Given the description of an element on the screen output the (x, y) to click on. 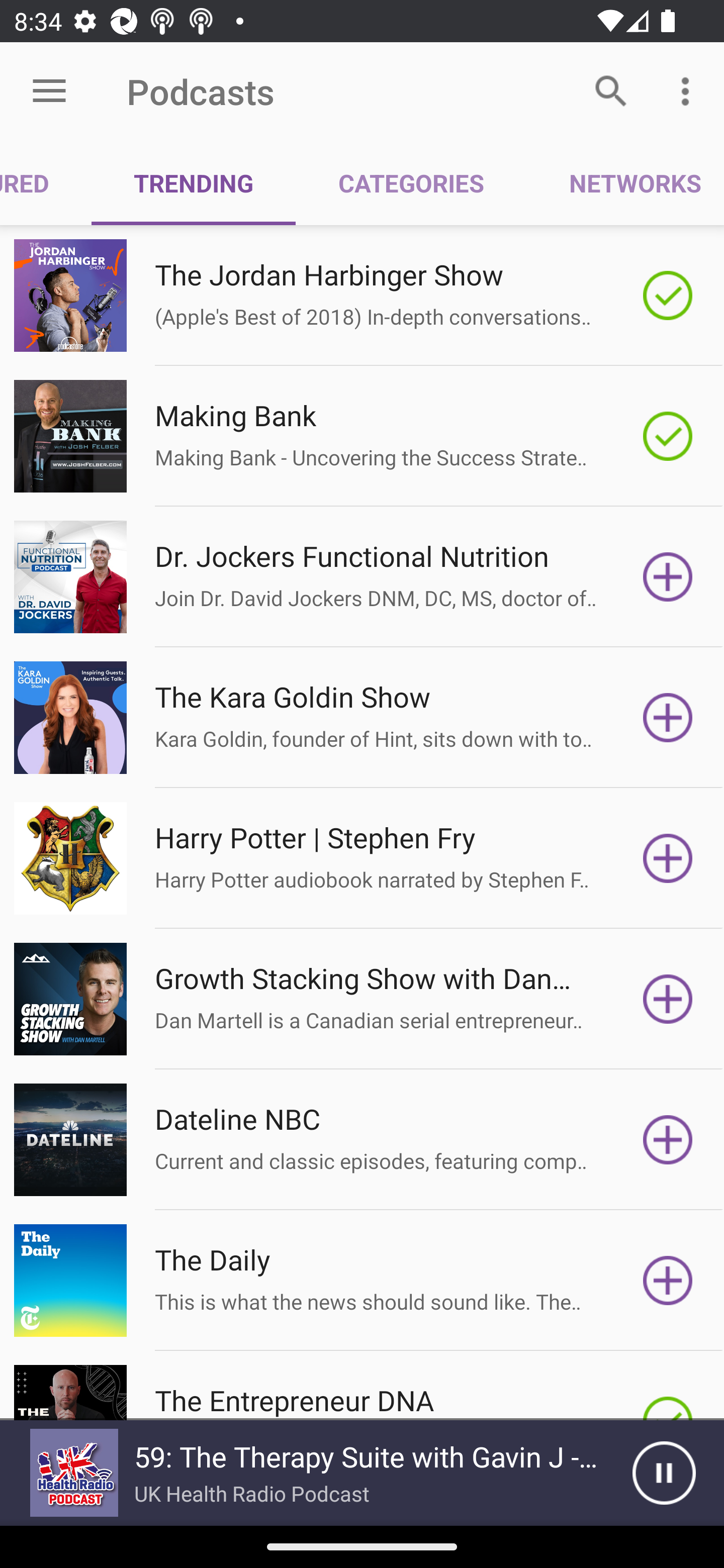
Open menu (49, 91)
Search (611, 90)
More options (688, 90)
TRENDING (193, 183)
CATEGORIES (410, 183)
NETWORKS (625, 183)
Subscribed (667, 295)
Subscribed (667, 435)
Subscribe (667, 576)
Subscribe (667, 717)
Subscribe (667, 858)
Subscribe (667, 998)
Subscribe (667, 1139)
Subscribe (667, 1280)
Pause (663, 1472)
